Given the description of an element on the screen output the (x, y) to click on. 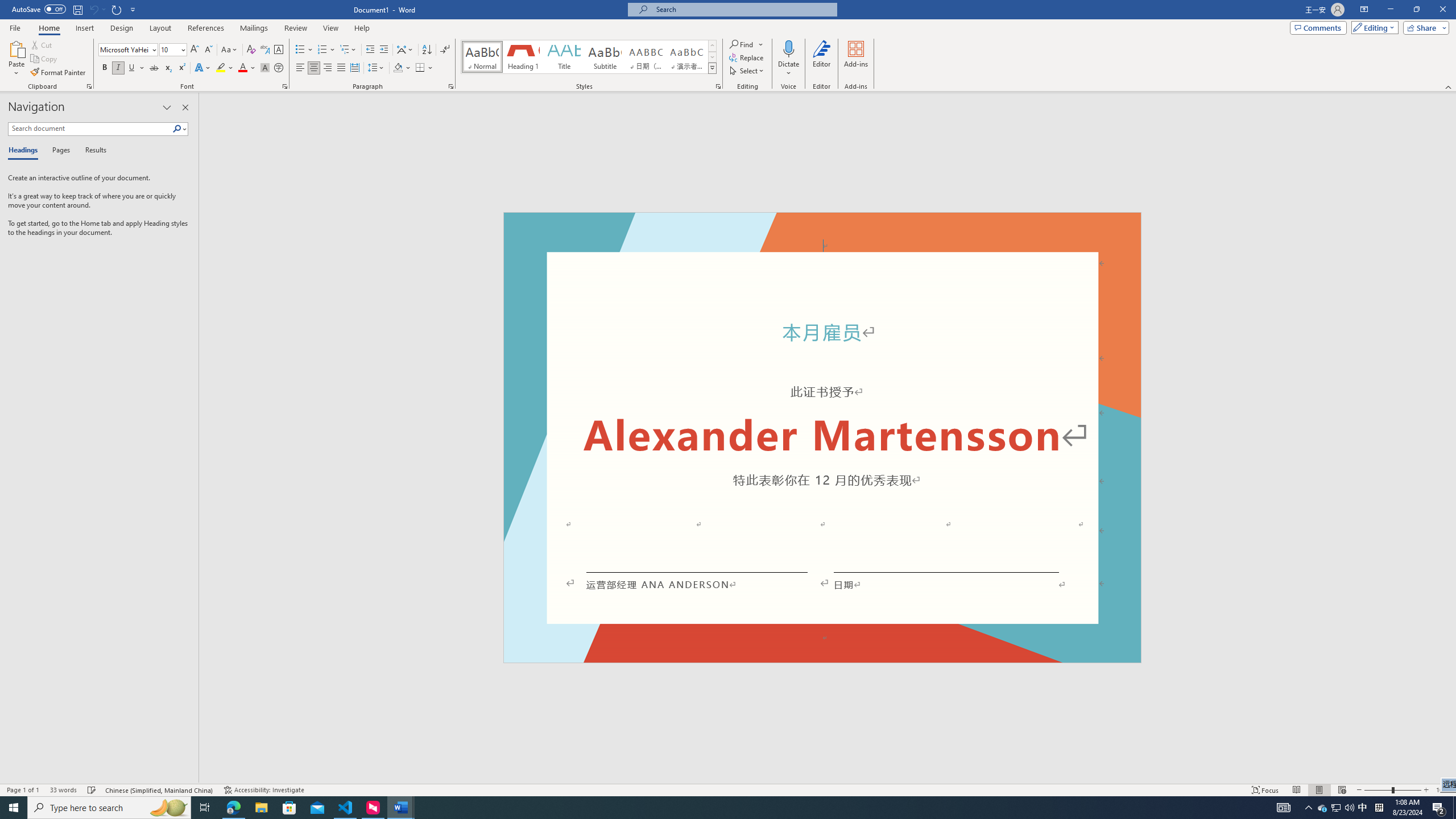
Zoom 100% (1443, 790)
